Given the description of an element on the screen output the (x, y) to click on. 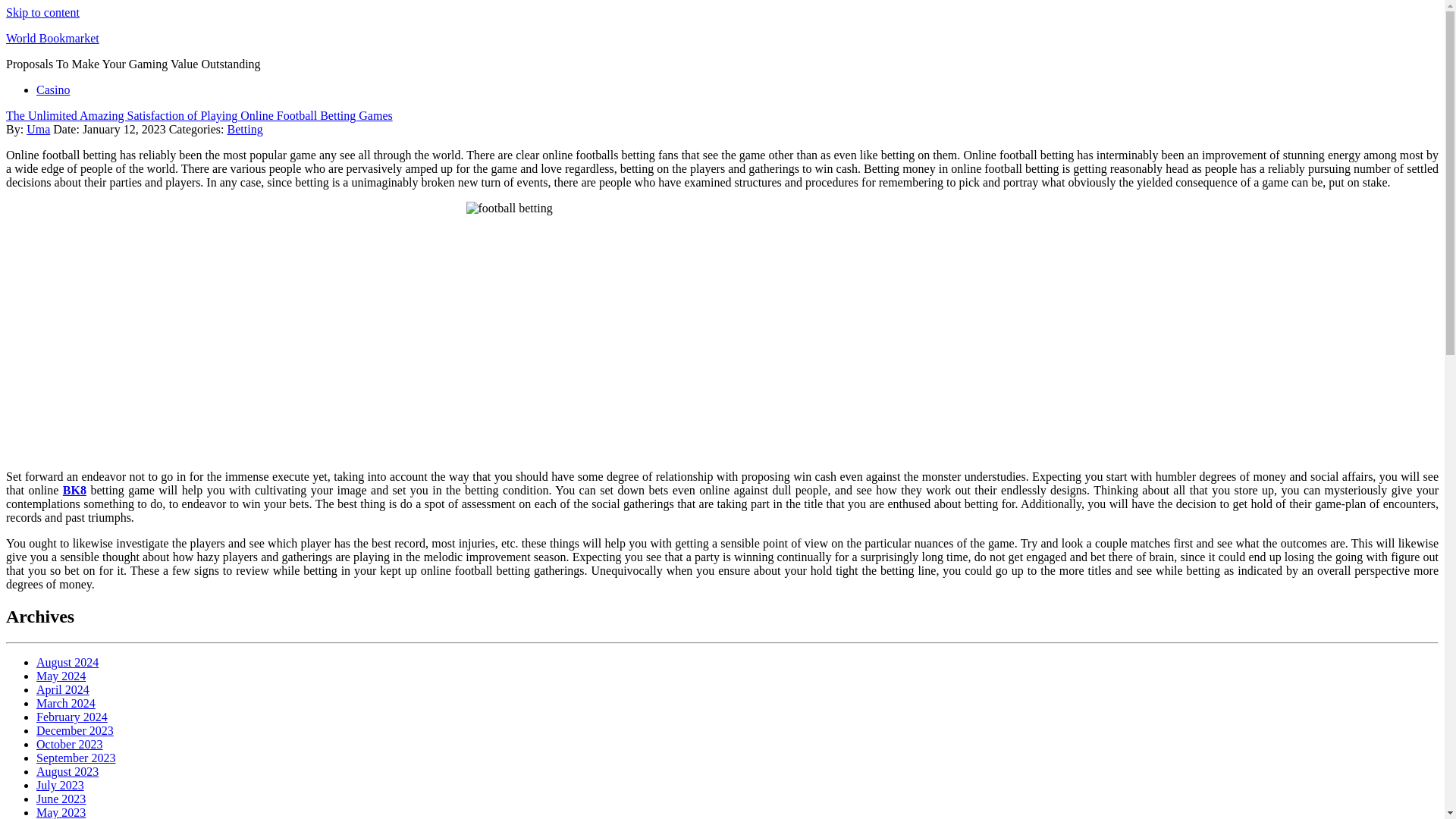
Posts by Uma (37, 128)
Uma (37, 128)
December 2023 (74, 730)
October 2023 (69, 744)
Skip to content (42, 11)
June 2023 (60, 798)
May 2023 (60, 812)
March 2024 (66, 703)
April 2024 (62, 689)
